Given the description of an element on the screen output the (x, y) to click on. 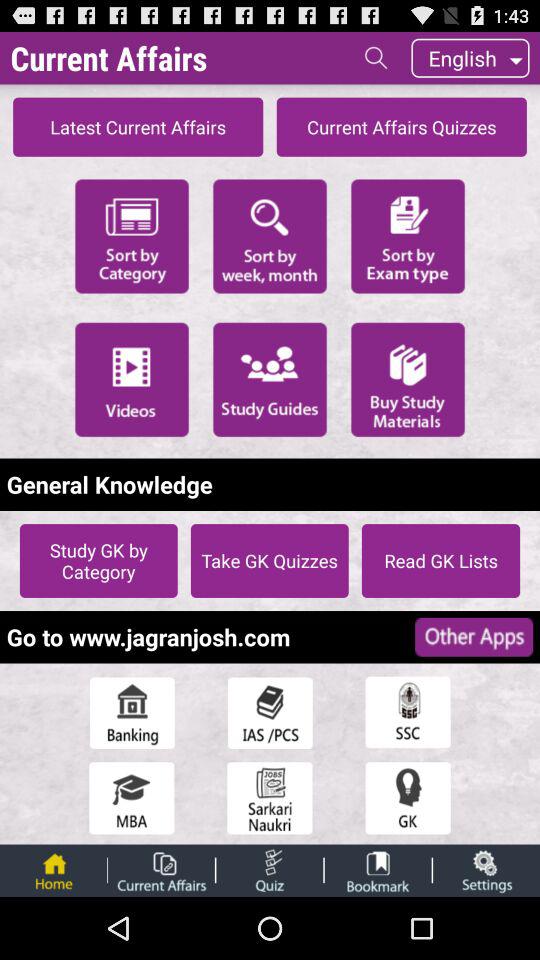
banking option (131, 712)
